Given the description of an element on the screen output the (x, y) to click on. 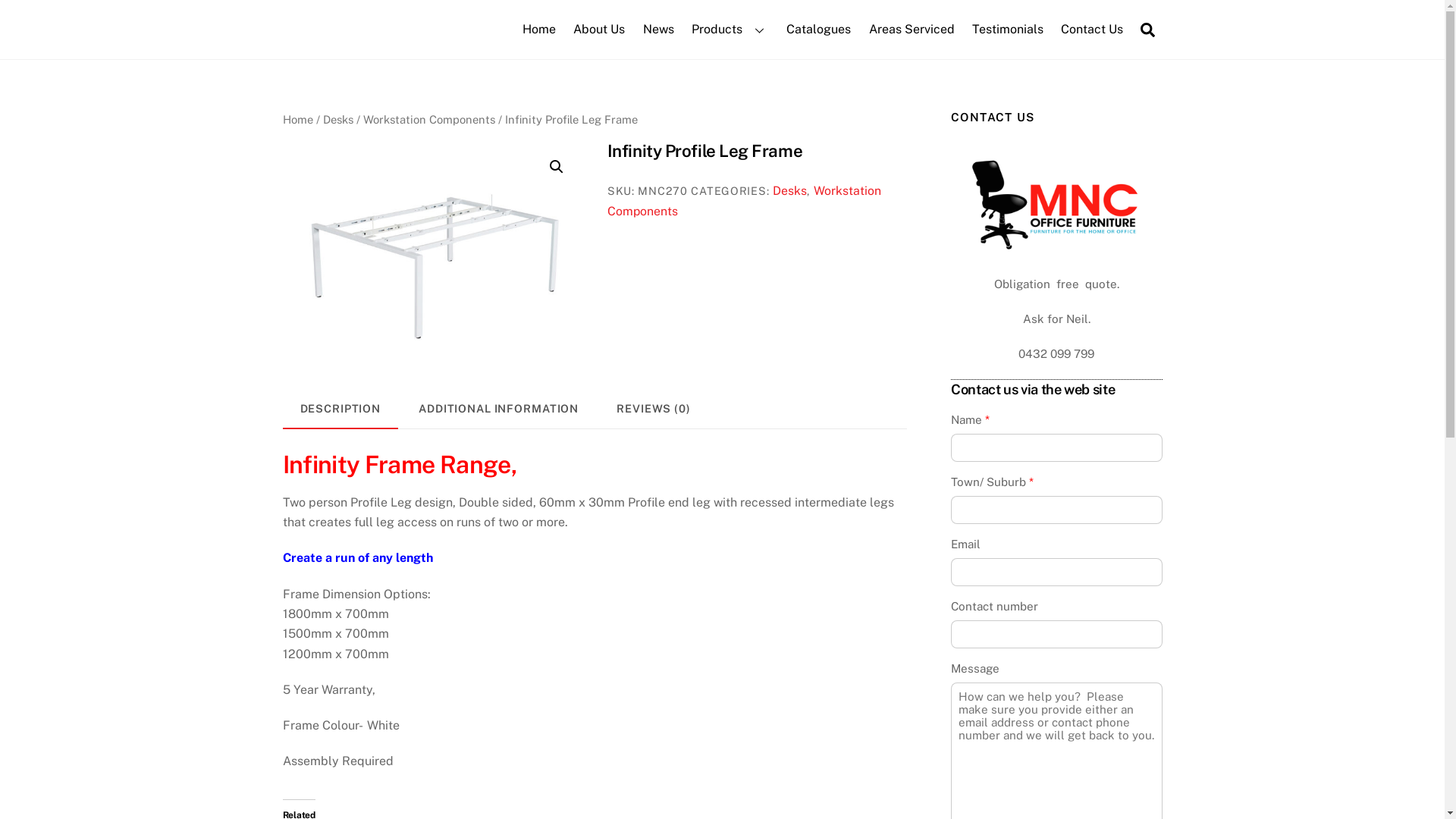
About Us Element type: text (599, 29)
Workstation Components Element type: text (428, 118)
REVIEWS (0) Element type: text (653, 408)
News Element type: text (657, 29)
Desks Element type: text (789, 190)
Contact Us Element type: text (1091, 29)
Home Element type: text (297, 118)
Workstation Components Element type: text (744, 200)
ADDITIONAL INFORMATION Element type: text (498, 408)
Search Element type: text (1147, 28)
Desks Element type: text (338, 118)
Areas Serviced Element type: text (911, 29)
Catalogues Element type: text (818, 29)
Home Element type: text (539, 29)
DESCRIPTION Element type: text (340, 408)
Testimonials Element type: text (1007, 29)
Products Element type: text (730, 29)
infinity-profile-leg-frame-white Element type: hover (431, 253)
